Given the description of an element on the screen output the (x, y) to click on. 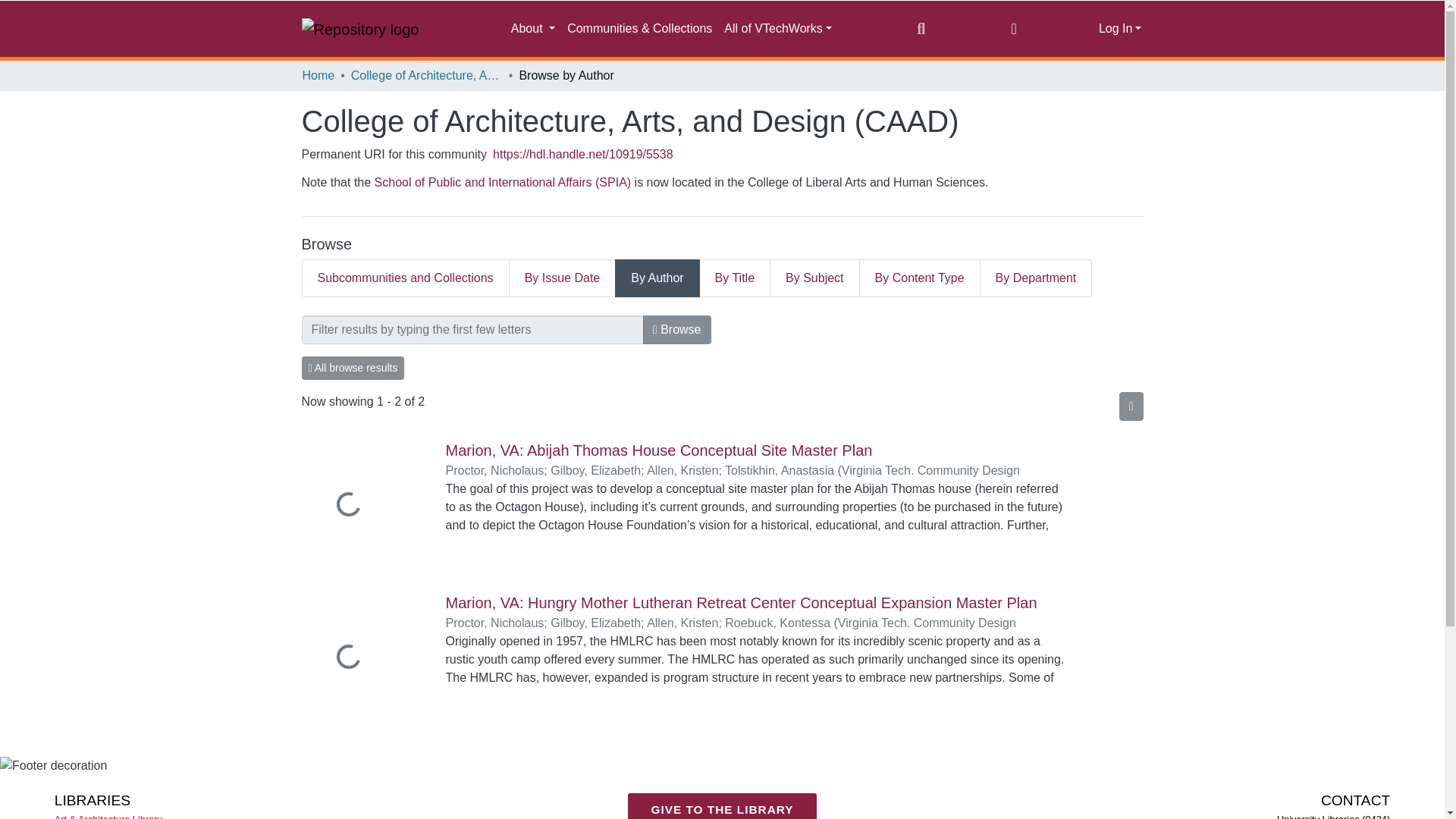
All browse results (352, 368)
Subcommunities and Collections (405, 278)
Search (920, 28)
Language switch (1013, 28)
By Department (1036, 278)
About (532, 28)
Browse (677, 329)
By Issue Date (562, 278)
By Author (656, 278)
By Content Type (919, 278)
